Given the description of an element on the screen output the (x, y) to click on. 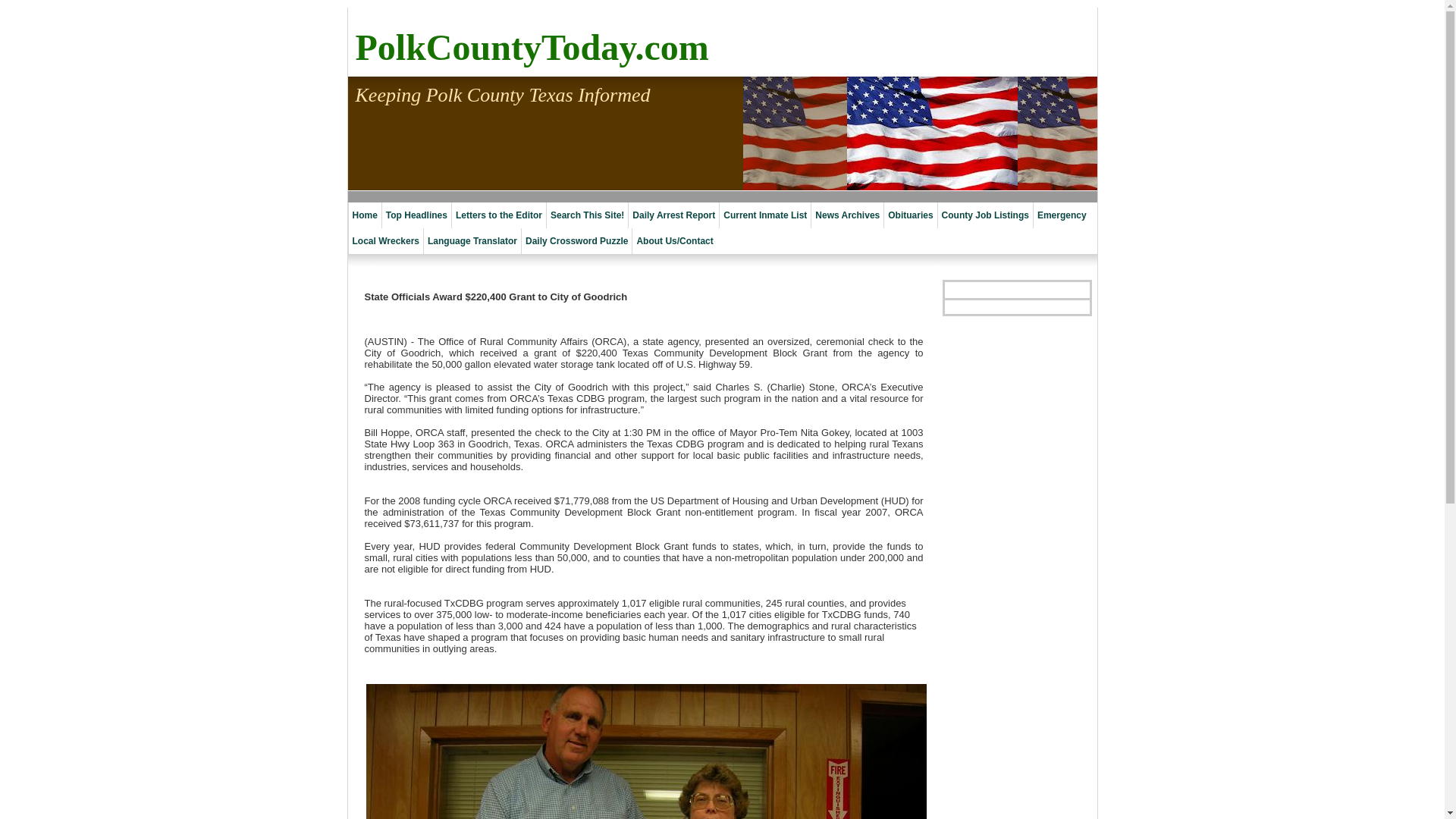
Language Translator (472, 240)
Search This Site! (586, 215)
Emergency (1061, 215)
News Archives (846, 215)
Home (363, 215)
Daily Crossword Puzzle (576, 240)
Daily Arrest Report (673, 215)
Obituaries (909, 215)
Local Wreckers (385, 240)
Top Headlines (416, 215)
